Given the description of an element on the screen output the (x, y) to click on. 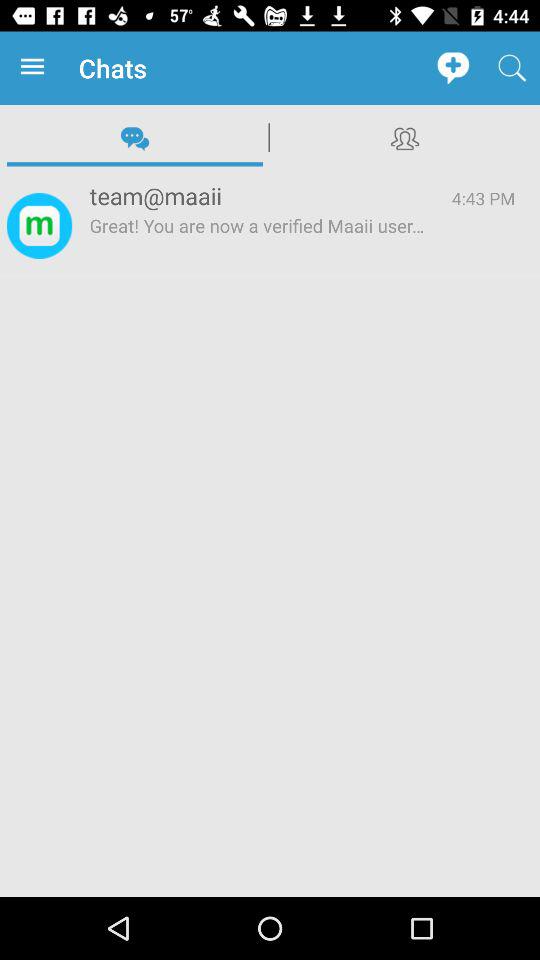
launch the team@maaii icon (258, 195)
